Given the description of an element on the screen output the (x, y) to click on. 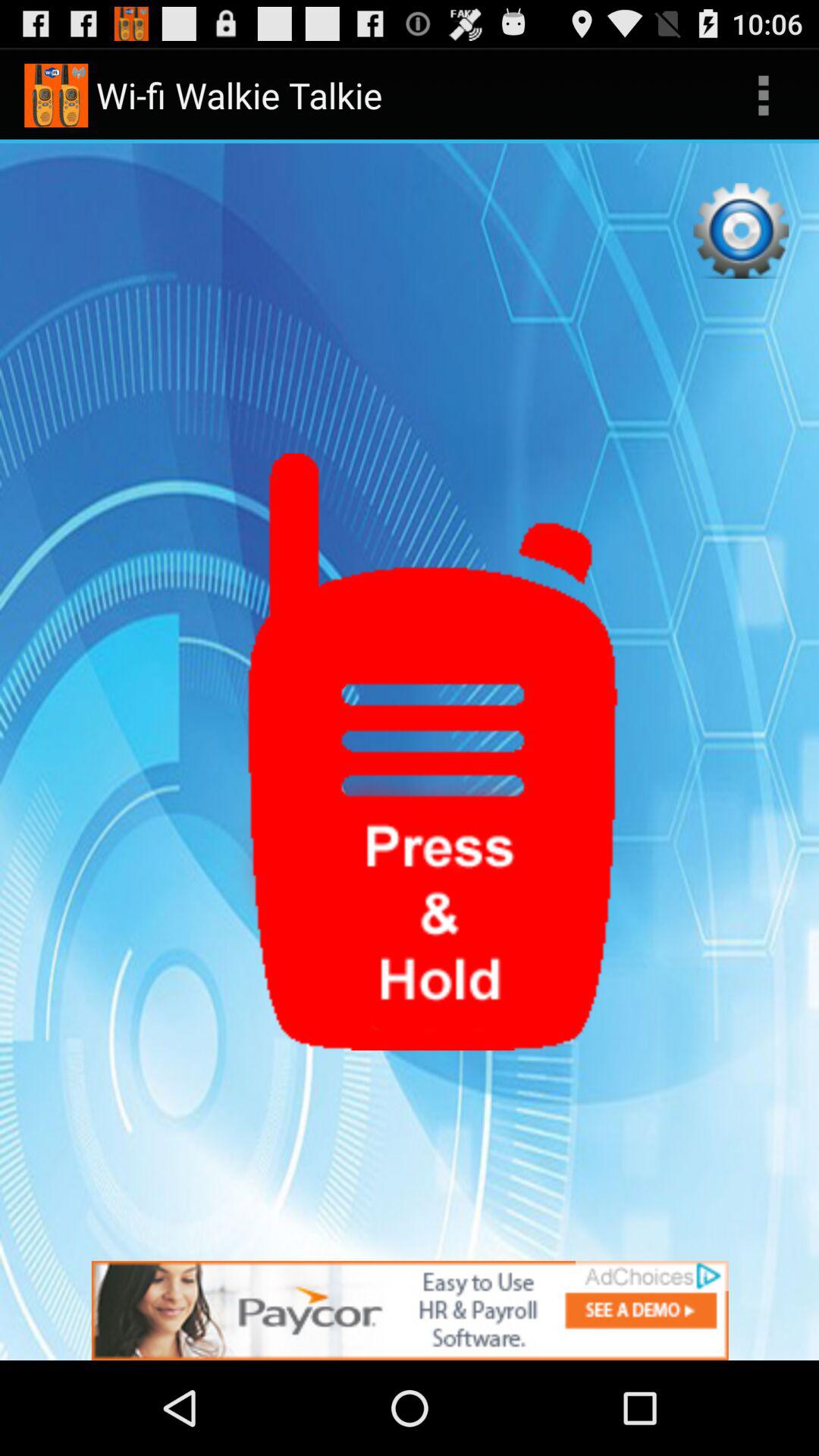
add the picture (409, 1310)
